Given the description of an element on the screen output the (x, y) to click on. 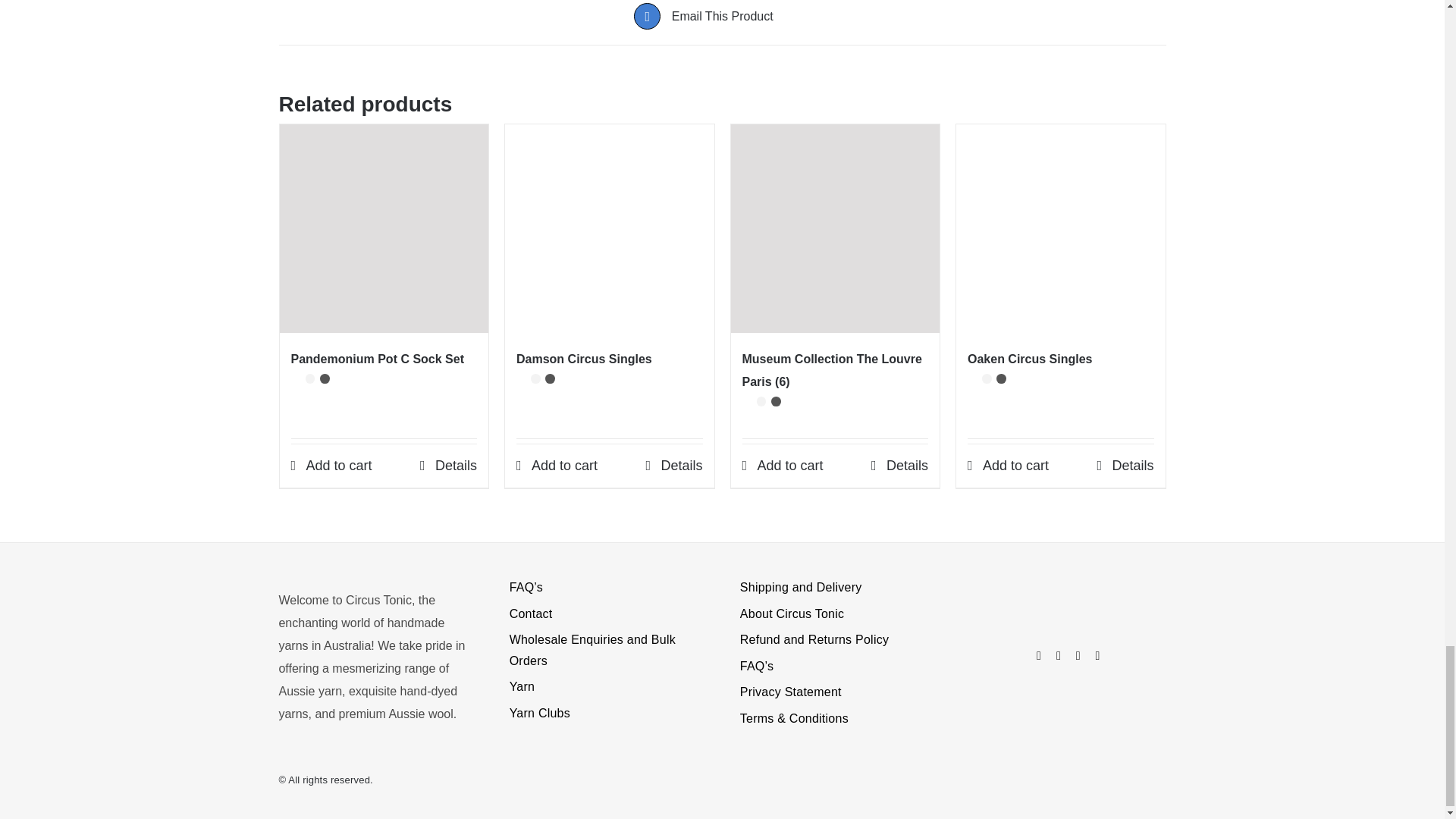
Details (448, 465)
Pandemonium Pot C Sock Set (377, 358)
Add to cart (556, 465)
Details (673, 465)
Add to cart (331, 465)
Email This Product (721, 16)
Damson Circus Singles (584, 358)
